Given the description of an element on the screen output the (x, y) to click on. 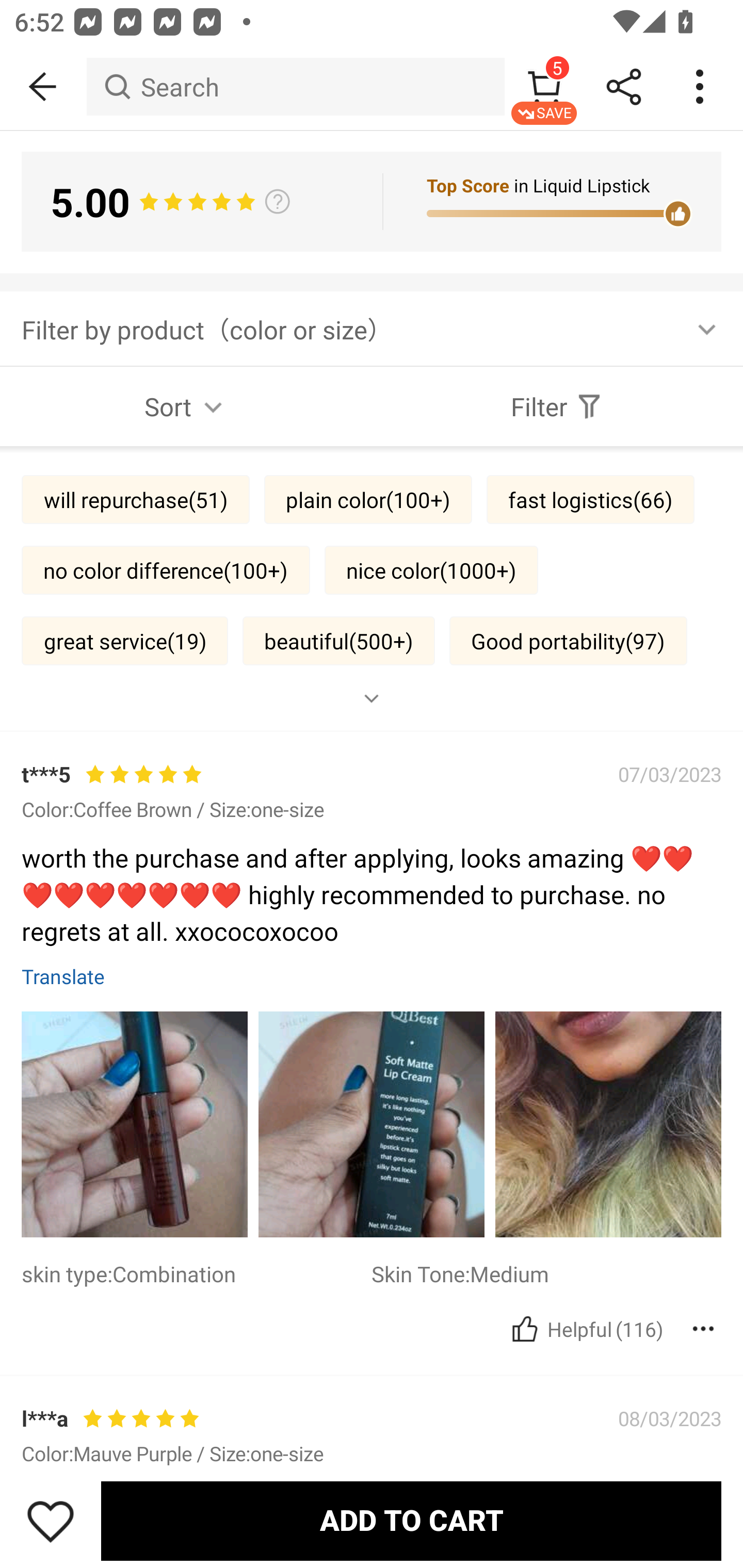
BACK (43, 86)
5 SAVE (543, 87)
Search (295, 87)
Filter by product（color or size） (371, 328)
Sort (185, 406)
Filter (557, 406)
will repurchase(51) (135, 499)
plain color(100‎+) (367, 499)
fast logistics(66) (590, 499)
no color difference(100‎+) (165, 569)
nice color(1000‎+) (430, 569)
great service(19) (124, 640)
beautiful(500‎+) (338, 640)
Good portability(97) (568, 640)
Translate (62, 975)
skin type:Combination (196, 1273)
Skin Tone:Medium (546, 1273)
Cancel Helpful Was this article helpful? (116) (585, 1328)
ADD TO CART (411, 1520)
Save (50, 1520)
